Given the description of an element on the screen output the (x, y) to click on. 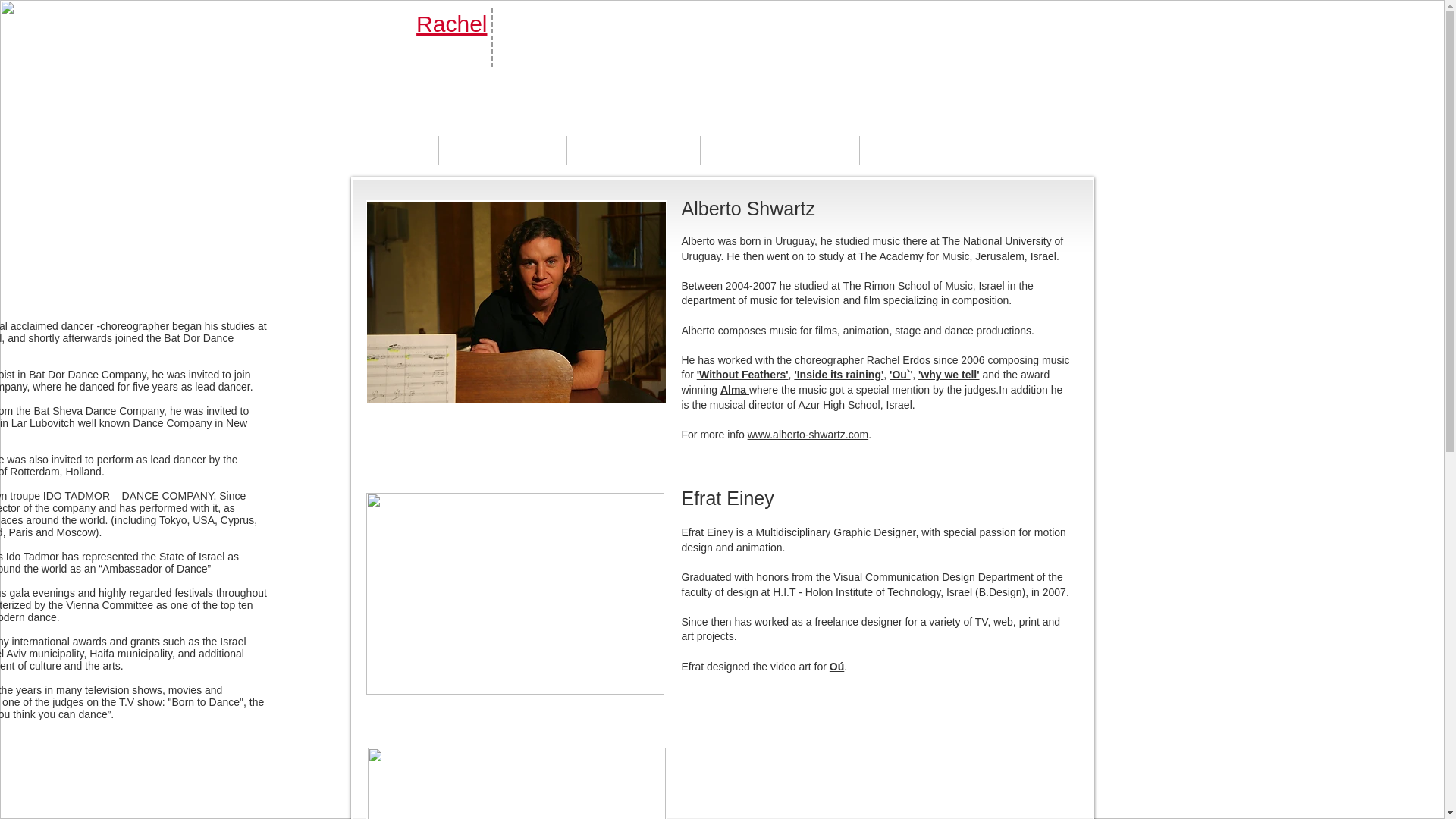
About Me (502, 149)
Home (390, 149)
www.alberto-shwartz.com (808, 434)
Alma (734, 389)
'Without Feathers' (743, 374)
'why we tell' (948, 374)
Commissions (779, 149)
'Inside its raining' (838, 374)
